Given the description of an element on the screen output the (x, y) to click on. 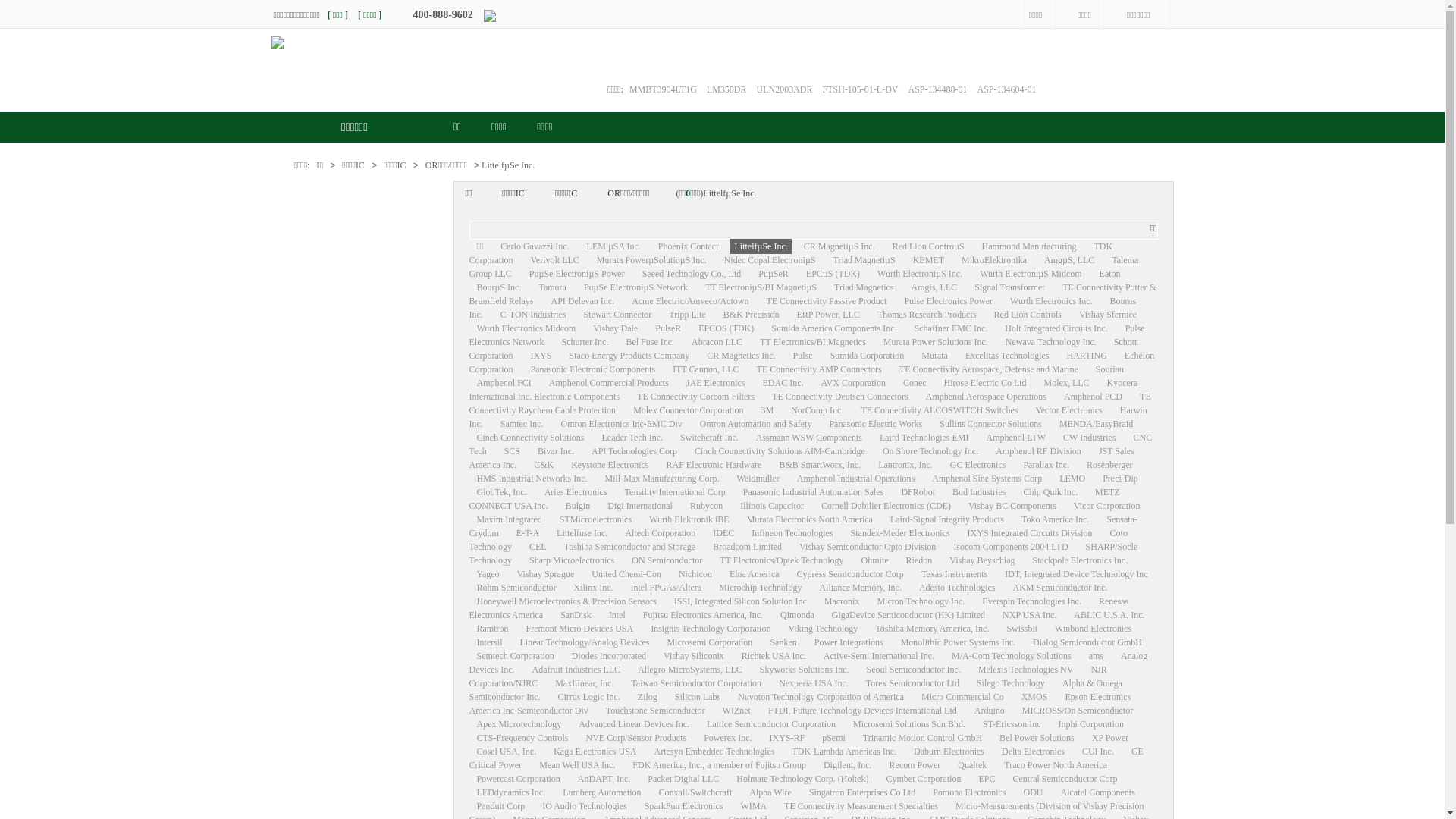
Broadcom Limited Element type: text (747, 546)
MENDA/EasyBraid Element type: text (1095, 423)
Macronix Element type: text (841, 601)
Isocom Components 2004 LTD Element type: text (1010, 546)
CW Industries Element type: text (1089, 437)
Souriau Element type: text (1109, 369)
Cypress Semiconductor Corp Element type: text (850, 573)
United Chemi-Con Element type: text (625, 573)
M/A-Com Technology Solutions Element type: text (1011, 655)
Sumida Corporation Element type: text (867, 355)
Cirrus Logic Inc. Element type: text (588, 696)
B&B SmartWorx, Inc. Element type: text (819, 464)
Cinch Connectivity Solutions Element type: text (529, 437)
Wurth Electronics Inc. Element type: text (1050, 300)
C&K Element type: text (543, 464)
Assmann WSW Components Element type: text (808, 437)
Nuvoton Technology Corporation of America Element type: text (820, 696)
Honeywell Microelectronics & Precision Sensors Element type: text (565, 601)
Eaton Element type: text (1110, 273)
Singatron Enterprises Co Ltd Element type: text (861, 792)
Delta Electronics Element type: text (1033, 751)
Stackpole Electronics Inc. Element type: text (1080, 560)
TE Connectivity Raychem Cable Protection Element type: text (809, 403)
Cinch Connectivity Solutions AIM-Cambridge Element type: text (779, 450)
ITT Cannon, LLC Element type: text (705, 369)
EPCOS (TDK) Element type: text (725, 328)
CEL Element type: text (537, 546)
Semtech Corporation Element type: text (514, 655)
Murata Electronics North America Element type: text (809, 519)
Hirose Electric Co Ltd Element type: text (985, 382)
Microchip Technology Element type: text (760, 587)
NXP USA Inc. Element type: text (1028, 614)
TE Connectivity Measurement Specialties Element type: text (860, 805)
Dialog Semiconductor GmbH Element type: text (1087, 642)
Murata Power Solutions Inc. Element type: text (935, 341)
Hammond Manufacturing Element type: text (1029, 246)
Microsemi Corporation Element type: text (708, 642)
MaxLinear, Inc. Element type: text (584, 682)
Panasonic Industrial Automation Sales Element type: text (813, 491)
SanDisk Element type: text (575, 614)
LEDdynamics Inc. Element type: text (510, 792)
Sanken Element type: text (782, 642)
SparkFun Electronics Element type: text (684, 805)
Taiwan Semiconductor Corporation Element type: text (695, 682)
Vishay Beyschlag Element type: text (981, 560)
Tamura Element type: text (551, 287)
Staco Energy Products Company Element type: text (629, 355)
GE Critical Power Element type: text (805, 758)
TE Connectivity Passive Product Element type: text (826, 300)
ODU Element type: text (1033, 792)
Illinois Capacitor Element type: text (771, 505)
Sullins Connector Solutions Element type: text (990, 423)
Monolithic Power Systems Inc. Element type: text (957, 642)
Seoul Semiconductor Inc. Element type: text (912, 669)
Wurth Electronics Midcom Element type: text (525, 328)
Echelon Corporation Element type: text (811, 362)
Fremont Micro Devices USA Element type: text (579, 628)
Bel Power Solutions Element type: text (1036, 737)
GigaDevice Semiconductor (HK) Limited Element type: text (908, 614)
Ramtron Element type: text (491, 628)
Fujitsu Electronics America, Inc. Element type: text (702, 614)
KEMET Element type: text (928, 259)
Schaffner EMC Inc. Element type: text (950, 328)
Signal Transformer Element type: text (1009, 287)
Cymbet Corporation Element type: text (923, 778)
Vishay Dale Element type: text (615, 328)
Intersil Element type: text (488, 642)
Abracon LLC Element type: text (716, 341)
Renesas Electronics America Element type: text (798, 608)
Digi International Element type: text (639, 505)
Amphenol FCI Element type: text (503, 382)
On Shore Technology Inc. Element type: text (930, 450)
GlobTek, Inc. Element type: text (500, 491)
XMOS Element type: text (1034, 696)
MICROSS/On Semiconductor Element type: text (1077, 710)
Wurth Elektronik iBE Element type: text (689, 519)
Carlo Gavazzi Inc. Element type: text (534, 246)
ST-Ericsson Inc Element type: text (1011, 723)
FDK America, Inc., a member of Fujitsu Group Element type: text (718, 764)
ASP-134488-01 Element type: text (936, 89)
API Delevan Inc. Element type: text (581, 300)
Powerex Inc. Element type: text (727, 737)
Newava Technology Inc. Element type: text (1050, 341)
Elna America Element type: text (754, 573)
Conec Element type: text (914, 382)
HMS Industrial Networks Inc. Element type: text (531, 478)
Packet Digital LLC Element type: text (683, 778)
Xilinx Inc. Element type: text (592, 587)
Vector Electronics Element type: text (1068, 409)
NJR Corporation/NJRC Element type: text (787, 676)
Active-Semi International Inc. Element type: text (878, 655)
LM358DR Element type: text (726, 89)
Bourns Inc. Element type: text (801, 307)
Maxim Integrated Element type: text (508, 519)
CUI Inc. Element type: text (1097, 751)
Amphenol PCD Element type: text (1092, 396)
AKM Semiconductor Inc. Element type: text (1060, 587)
NorComp Inc. Element type: text (816, 409)
TE Connectivity Corcom Filters Element type: text (695, 396)
XP Power Element type: text (1110, 737)
Holt Integrated Circuits Inc. Element type: text (1055, 328)
Coto Technology Element type: text (797, 539)
Daburn Electronics Element type: text (948, 751)
Intel Element type: text (617, 614)
Amphenol Aerospace Operations Element type: text (986, 396)
Insignis Technology Corporation Element type: text (710, 628)
Amphenol RF Division Element type: text (1038, 450)
IDEC Element type: text (723, 532)
EDAC Inc. Element type: text (782, 382)
Central Semiconductor Corp Element type: text (1064, 778)
Rohm Semiconductor Element type: text (515, 587)
Stewart Connector Element type: text (617, 314)
Melexis Technologies NV Element type: text (1025, 669)
Laird Technologies EMI Element type: text (924, 437)
Alcatel Components Element type: text (1097, 792)
Skyworks Solutions Inc. Element type: text (804, 669)
Amphenol LTW Element type: text (1016, 437)
Torex Semiconductor Ltd Element type: text (912, 682)
Weidmuller Element type: text (757, 478)
Pomona Electronics Element type: text (969, 792)
Murata Element type: text (934, 355)
TE Connectivity AMP Connectors Element type: text (819, 369)
HARTING Element type: text (1086, 355)
Conxall/Switchcraft Element type: text (695, 792)
Silego Technology Element type: text (1010, 682)
Kaga Electronics USA Element type: text (594, 751)
Seeed Technology Co., Ltd Element type: text (691, 273)
Toshiba Semiconductor and Storage Element type: text (629, 546)
ASP-134604-01 Element type: text (1006, 89)
ISSI, Integrated Silicon Solution Inc Element type: text (740, 601)
Pulse Electronics Network Element type: text (806, 335)
Inphi Corporation Element type: text (1091, 723)
TE Connectivity ALCOSWITCH Switches Element type: text (939, 409)
Molex Connector Corporation Element type: text (687, 409)
TDK Corporation Element type: text (790, 253)
Mill-Max Manufacturing Corp. Element type: text (661, 478)
Red Lion Controls Element type: text (1027, 314)
AVX Corporation Element type: text (852, 382)
Tripp Lite Element type: text (687, 314)
pSemi Element type: text (833, 737)
STMicroelectronics Element type: text (595, 519)
Preci-Dip Element type: text (1120, 478)
Amphenol Industrial Operations Element type: text (855, 478)
Micro Commercial Co Element type: text (962, 696)
Vishay Semiconductor Opto Division Element type: text (867, 546)
Vishay BC Components Element type: text (1011, 505)
Kyocera International Inc. Electronic Components Element type: text (802, 389)
Standex-Meder Electronics Element type: text (900, 532)
Vishay Sfernice Element type: text (1107, 314)
Talema Group LLC Element type: text (803, 266)
ams Element type: text (1095, 655)
Alpha Wire Element type: text (770, 792)
RAF Electronic Hardware Element type: text (713, 464)
Schott Corporation Element type: text (802, 348)
Molex, LLC Element type: text (1066, 382)
TT Electronics/BI Magnetics Element type: text (812, 341)
Bivar Inc. Element type: text (555, 450)
Chip Quik Inc. Element type: text (1050, 491)
E-T-A Element type: text (527, 532)
Omron Automation and Safety Element type: text (755, 423)
3M Element type: text (767, 409)
Linear Technology/Analog Devices Element type: text (584, 642)
Thomas Research Products Element type: text (926, 314)
IXYS Element type: text (541, 355)
Microsemi Solutions Sdn Bhd. Element type: text (908, 723)
Allegro MicroSystems, LLC Element type: text (689, 669)
B&K Precision Element type: text (751, 314)
Mean Well USA Inc. Element type: text (576, 764)
LEMO Element type: text (1071, 478)
MikroElektronika Element type: text (993, 259)
Powercast Corporation Element type: text (517, 778)
Adesto Technologies Element type: text (957, 587)
Schurter Inc. Element type: text (584, 341)
Lumberg Automation Element type: text (601, 792)
Rubycon Element type: text (706, 505)
Phoenix Contact Element type: text (688, 246)
Parallax Inc. Element type: text (1045, 464)
Amphenol Sine Systems Corp Element type: text (986, 478)
Digilent, Inc. Element type: text (847, 764)
SCS Element type: text (511, 450)
Zilog Element type: text (647, 696)
TE Connectivity Potter & Brumfield Relays Element type: text (811, 294)
Ohmite Element type: text (874, 560)
Holmate Technology Corp. (Holtek) Element type: text (801, 778)
Trinamic Motion Control GmbH Element type: text (922, 737)
Samtec Inc. Element type: text (521, 423)
GC Electronics Element type: text (977, 464)
Tensility International Corp Element type: text (675, 491)
Alpha & Omega Semiconductor Inc. Element type: text (795, 689)
WIMA Element type: text (753, 805)
Infineon Technologies Element type: text (791, 532)
Altech Corporation Element type: text (659, 532)
EPC Element type: text (986, 778)
MMBT3904LT1G Element type: text (662, 89)
Traco Power North America Element type: text (1055, 764)
Laird-Signal Integrity Products Element type: text (946, 519)
Apex Microtechnology Element type: text (518, 723)
Keystone Electronics Element type: text (609, 464)
Micron Technology Inc. Element type: text (920, 601)
Viking Technology Element type: text (822, 628)
Nichicon Element type: text (695, 573)
API Technologies Corp Element type: text (633, 450)
METZ CONNECT USA Inc. Element type: text (793, 498)
Vishay Siliconix Element type: text (693, 655)
Vicor Corporation Element type: text (1107, 505)
Recom Power Element type: text (914, 764)
Analog Devices Inc. Element type: text (807, 662)
CR Magnetics Inc. Element type: text (740, 355)
Aries Electronics Element type: text (575, 491)
Panasonic Electronic Components Element type: text (593, 369)
CTS-Frequency Controls Element type: text (521, 737)
Alliance Memory, Inc. Element type: text (860, 587)
IXYS-RF Element type: text (786, 737)
Harwin Inc. Element type: text (807, 416)
NVE Corp/Sensor Products Element type: text (635, 737)
ULN2003ADR Element type: text (783, 89)
Sumida America Components Inc. Element type: text (833, 328)
Qimonda Element type: text (797, 614)
Richtek USA Inc. Element type: text (773, 655)
Lantronix, Inc. Element type: text (905, 464)
TE Connectivity Deutsch Connectors Element type: text (840, 396)
TDK-Lambda Americas Inc. Element type: text (843, 751)
Silicon Labs Element type: text (697, 696)
ABLIC U.S.A. Inc. Element type: text (1108, 614)
Panduit Corp Element type: text (500, 805)
Sharp Microelectronics Element type: text (571, 560)
Vishay Sprague Element type: text (545, 573)
C-TON Industries Element type: text (533, 314)
Yageo Element type: text (487, 573)
IDT, Integrated Device Technology Inc Element type: text (1075, 573)
JAE Electronics Element type: text (715, 382)
Leader Tech Inc. Element type: text (632, 437)
ERP Power, LLC Element type: text (827, 314)
Littelfuse Inc. Element type: text (582, 532)
Cosel USA, Inc. Element type: text (505, 751)
Sensata-Crydom Element type: text (802, 526)
Pulse Electronics Power Element type: text (948, 300)
Acme Electric/Amveco/Actown Element type: text (690, 300)
Texas Instruments Element type: text (953, 573)
AnDAPT, Inc. Element type: text (603, 778)
TT Electronics/Optek Technology Element type: text (781, 560)
Nexperia USA Inc. Element type: text (813, 682)
Bud Industries Element type: text (978, 491)
TE Connectivity Aerospace, Defense and Marine Element type: text (988, 369)
Toko America Inc. Element type: text (1054, 519)
FTSH-105-01-L-DV Element type: text (859, 89)
Winbond Electronics Element type: text (1093, 628)
SHARP/Socle Technology Element type: text (802, 553)
Arduino Element type: text (989, 710)
DFRobot Element type: text (917, 491)
Pulse Element type: text (802, 355)
JST Sales America Inc. Element type: text (800, 457)
Diodes Incorporated Element type: text (608, 655)
ON Semiconductor Element type: text (666, 560)
Bulgin Element type: text (578, 505)
PulseR Element type: text (667, 328)
WIZnet Element type: text (736, 710)
Cornell Dubilier Electronics (CDE) Element type: text (885, 505)
Qualtek Element type: text (972, 764)
Verivolt LLC Element type: text (554, 259)
Advanced Linear Devices Inc. Element type: text (633, 723)
IO Audio Technologies Element type: text (584, 805)
Bel Fuse Inc. Element type: text (649, 341)
Epson Electronics America Inc-Semiconductor Div Element type: text (799, 703)
Toshiba Memory America, Inc. Element type: text (931, 628)
FTDI, Future Technology Devices International Ltd Element type: text (862, 710)
Power Integrations Element type: text (848, 642)
Adafruit Industries LLC Element type: text (575, 669)
Switchcraft Inc. Element type: text (709, 437)
Riedon Element type: text (919, 560)
Touchstone Semiconductor Element type: text (655, 710)
Amgis, LLC Element type: text (934, 287)
Lattice Semiconductor Corporation Element type: text (771, 723)
Amphenol Commercial Products Element type: text (608, 382)
Everspin Technologies Inc. Element type: text (1031, 601)
Intel FPGAs/Altera Element type: text (666, 587)
Artesyn Embedded Technologies Element type: text (713, 751)
Triad Magnetics Element type: text (863, 287)
Excelitas Technologies Element type: text (1007, 355)
Panasonic Electric Works Element type: text (875, 423)
CNC Tech Element type: text (809, 444)
Swissbit Element type: text (1021, 628)
IXYS Integrated Circuits Division Element type: text (1030, 532)
Omron Electronics Inc-EMC Div Element type: text (620, 423)
Rosenberger Element type: text (1109, 464)
